Given the description of an element on the screen output the (x, y) to click on. 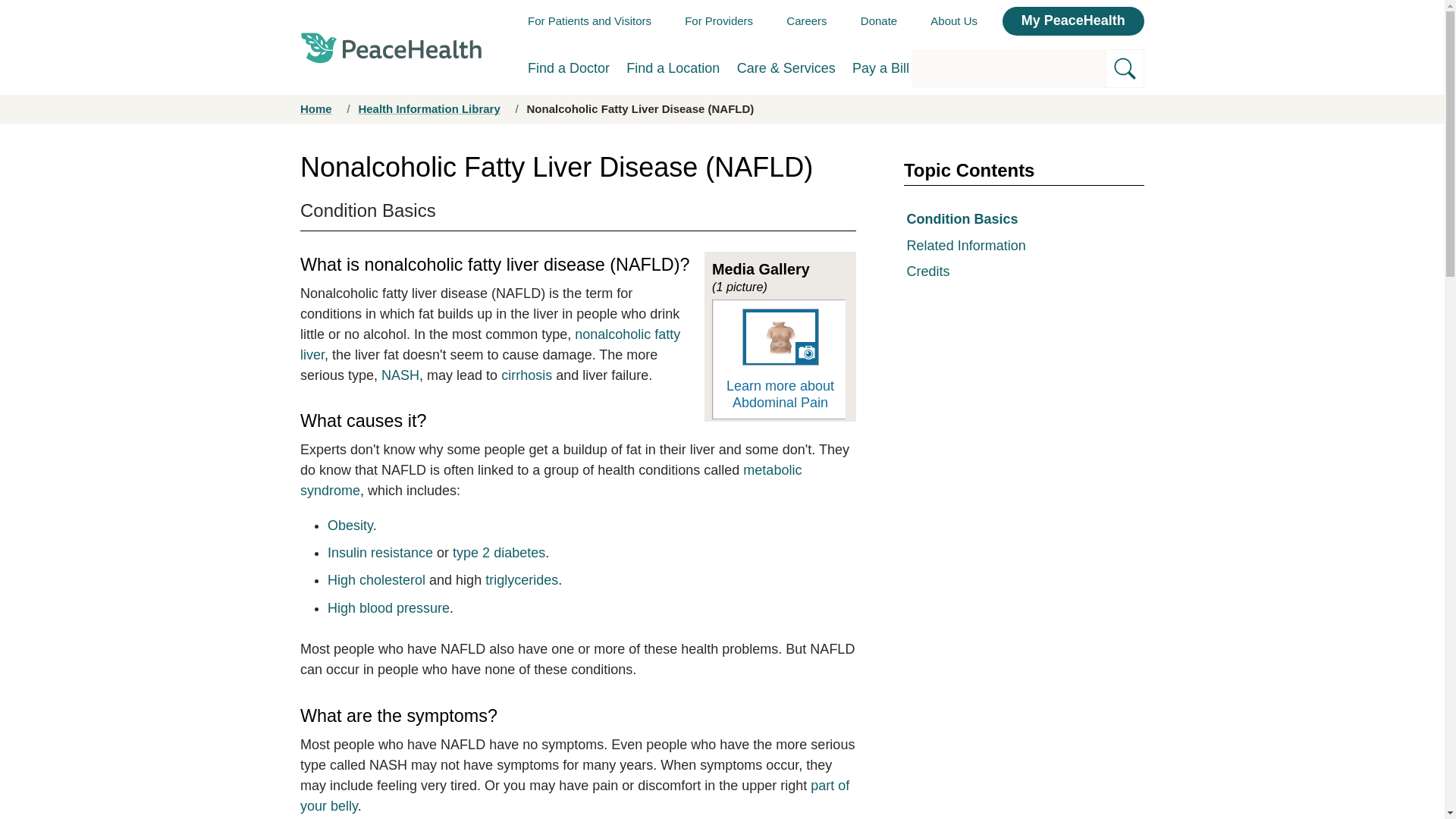
Donate (878, 20)
Home (315, 108)
Find a Location (672, 68)
cirrhosis (525, 375)
High cholesterol (376, 580)
Health Information Library (428, 108)
Pay a Bill (879, 68)
Careers (806, 20)
PeaceHealth Home (390, 47)
triglycerides (520, 580)
type 2 diabetes (498, 552)
High blood pressure (388, 607)
About Us (953, 20)
